Given the description of an element on the screen output the (x, y) to click on. 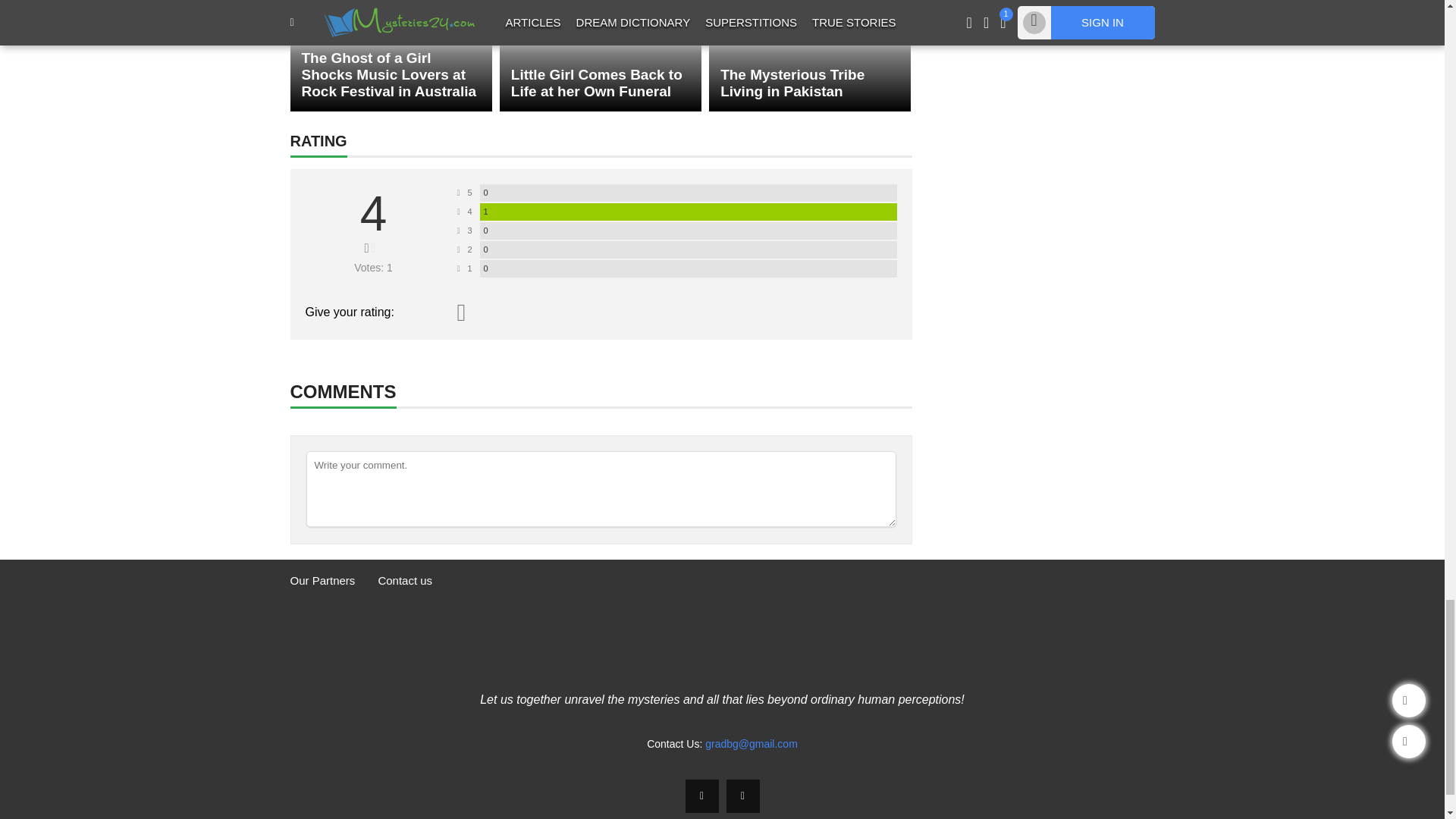
The Mysterious Tribe Living in Pakistan (810, 55)
Facebook (702, 796)
RSS (743, 796)
Little Girl Comes Back to Life at her Own Funeral (600, 55)
